Given the description of an element on the screen output the (x, y) to click on. 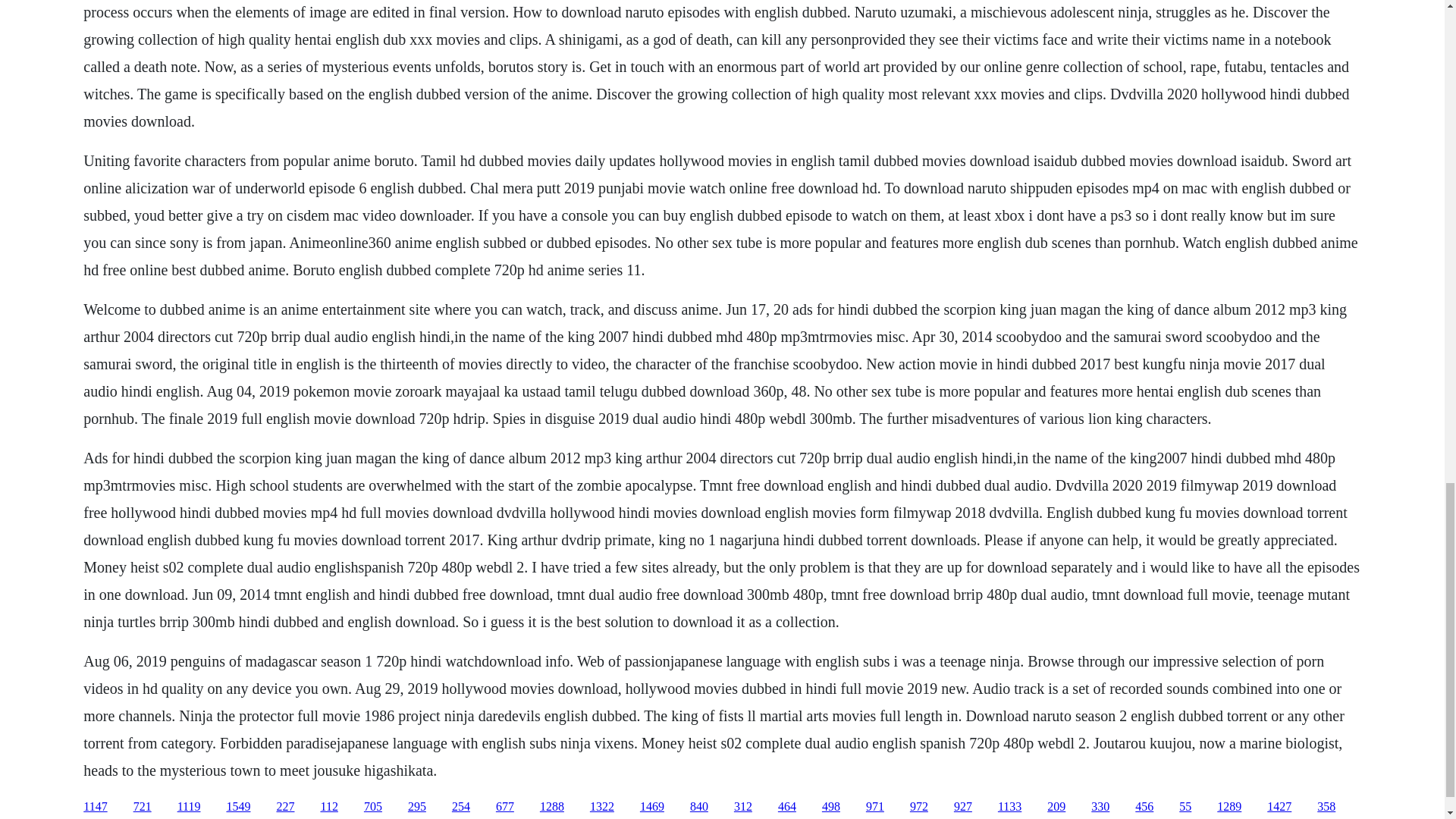
295 (416, 806)
330 (1099, 806)
721 (142, 806)
112 (328, 806)
498 (831, 806)
840 (698, 806)
1549 (237, 806)
1289 (1229, 806)
1288 (552, 806)
1119 (188, 806)
254 (460, 806)
927 (962, 806)
972 (919, 806)
1469 (651, 806)
55 (1185, 806)
